Given the description of an element on the screen output the (x, y) to click on. 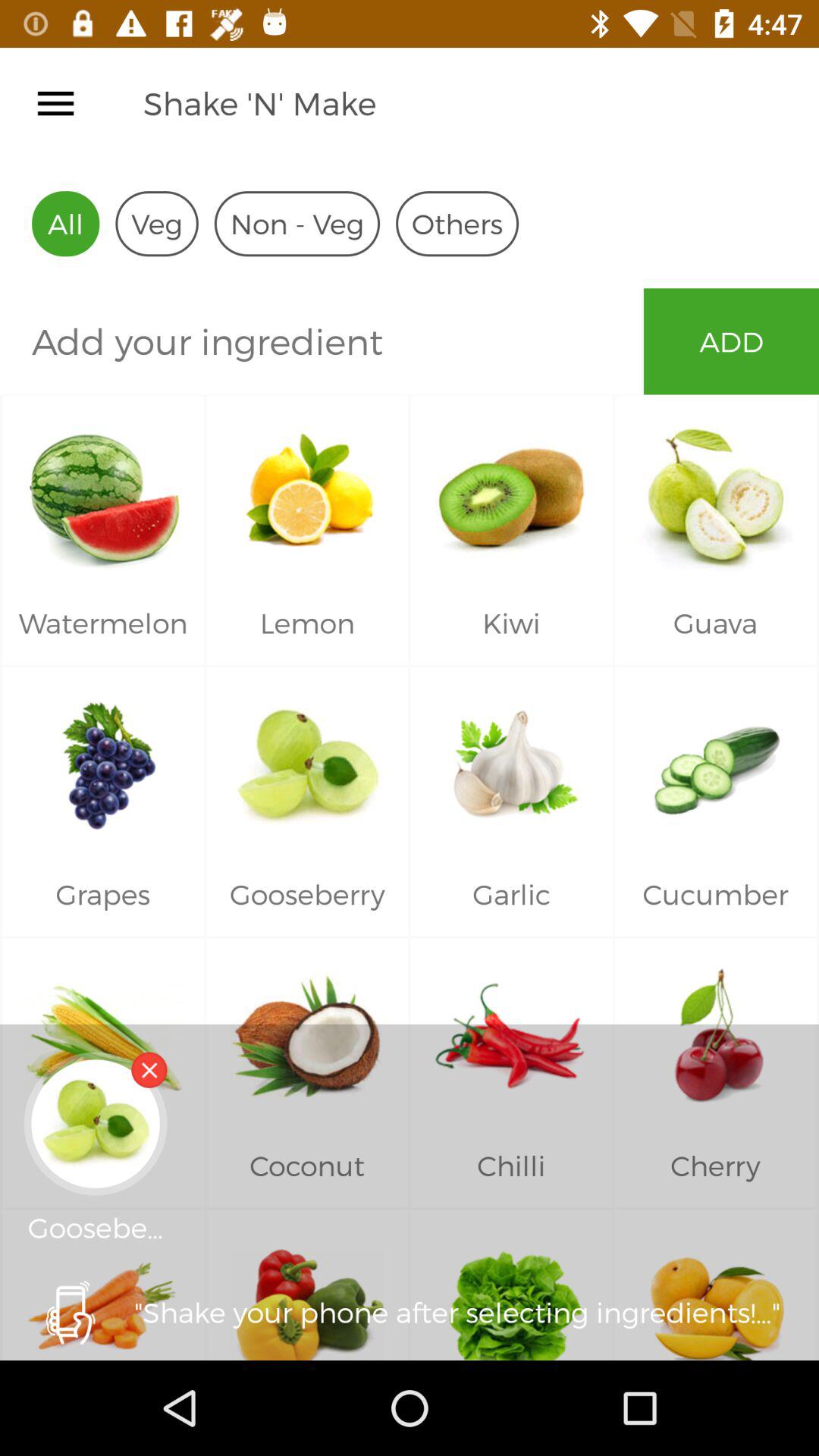
enter an ingredient (321, 341)
